Given the description of an element on the screen output the (x, y) to click on. 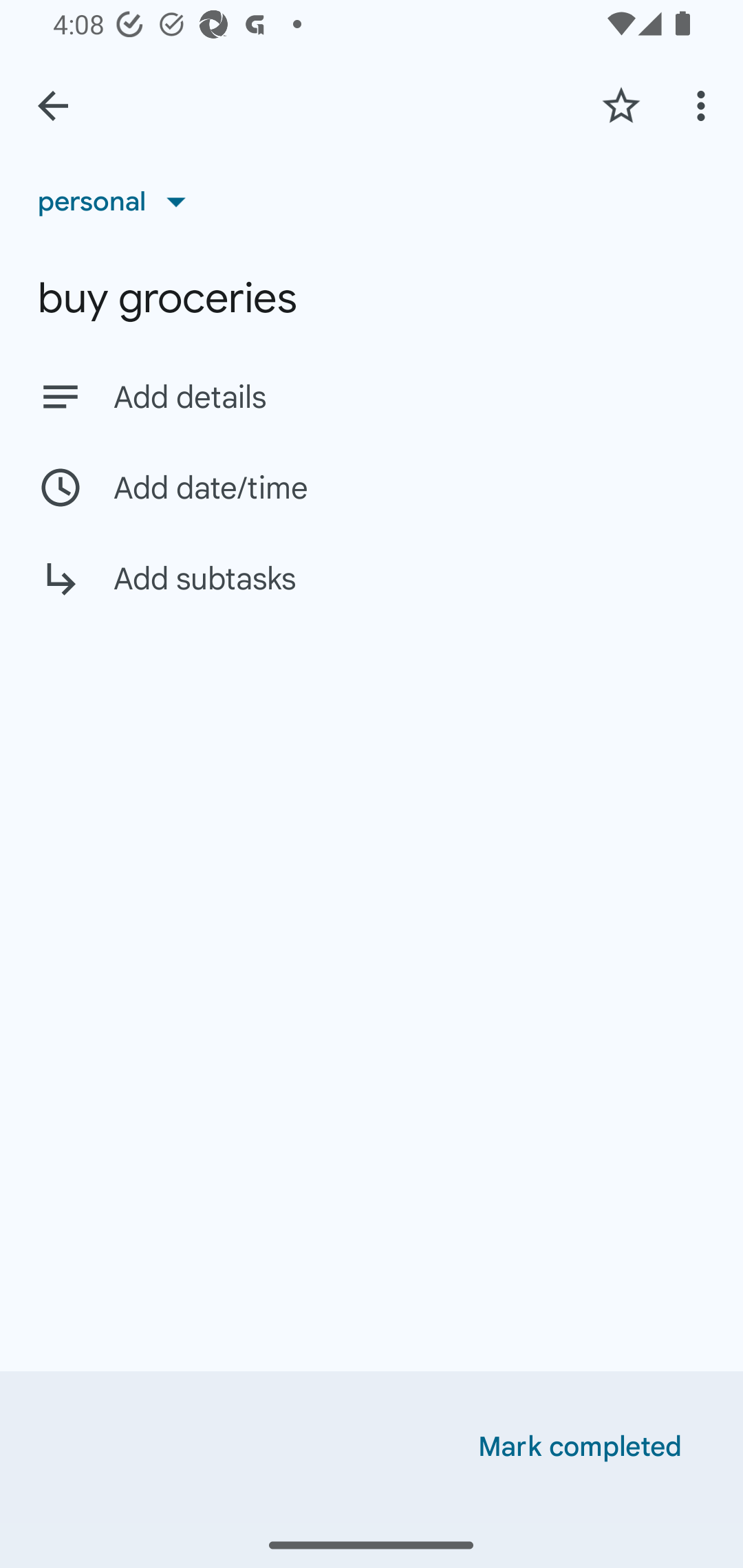
Back (53, 105)
Add star (620, 105)
More options (704, 105)
personal List, personal selected, 1 of 13 (118, 201)
buy groceries (371, 298)
Add details (371, 396)
Add details (409, 397)
Add date/time (371, 487)
Add subtasks (371, 593)
Mark completed (580, 1446)
